Given the description of an element on the screen output the (x, y) to click on. 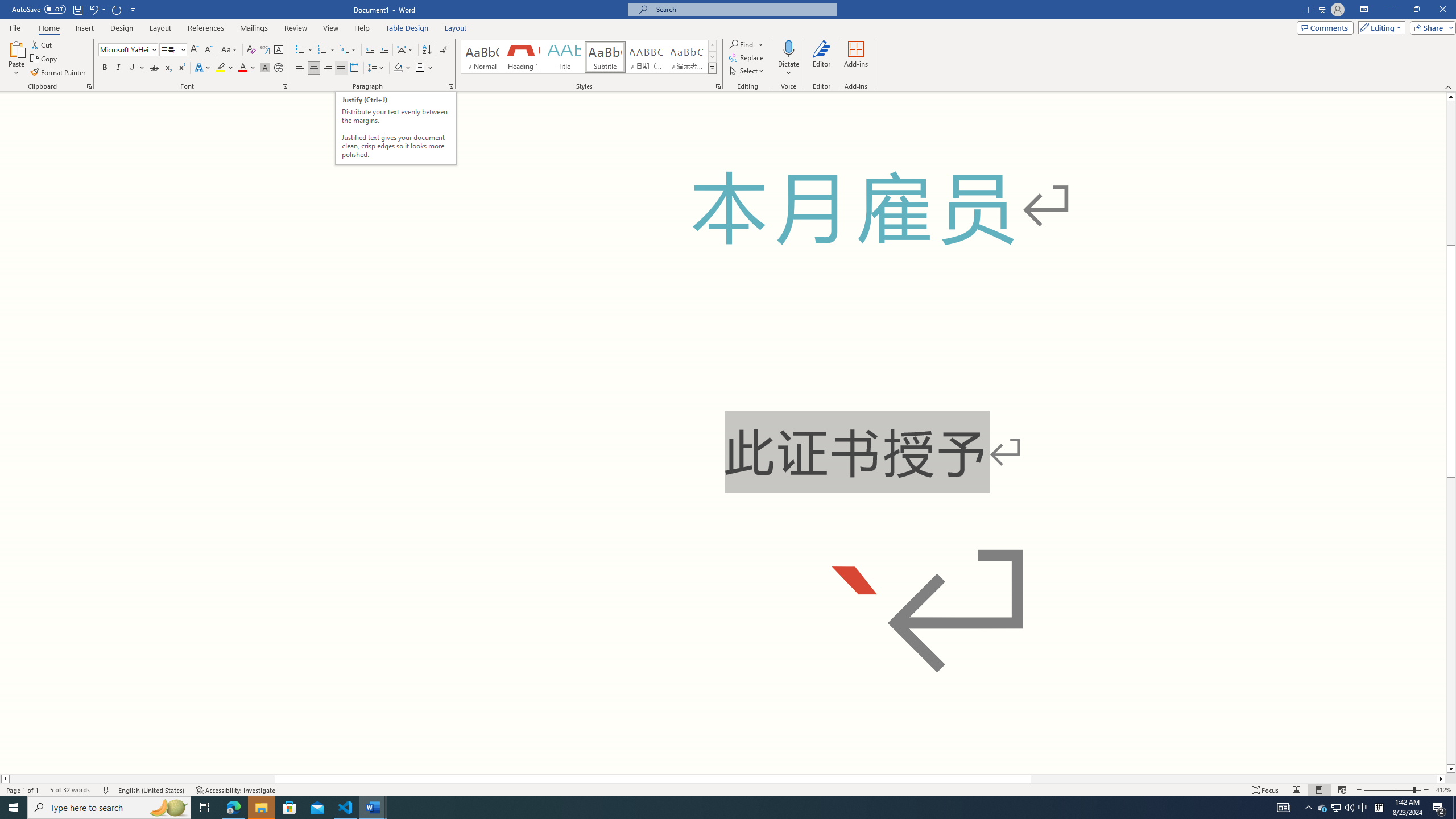
Class: NetUIScrollBar (722, 778)
Subtitle (605, 56)
Text Highlight Color (224, 67)
Line and Paragraph Spacing (376, 67)
Distributed (354, 67)
Zoom 412% (1443, 790)
Undo Superscript (92, 9)
Styles... (717, 85)
